Given the description of an element on the screen output the (x, y) to click on. 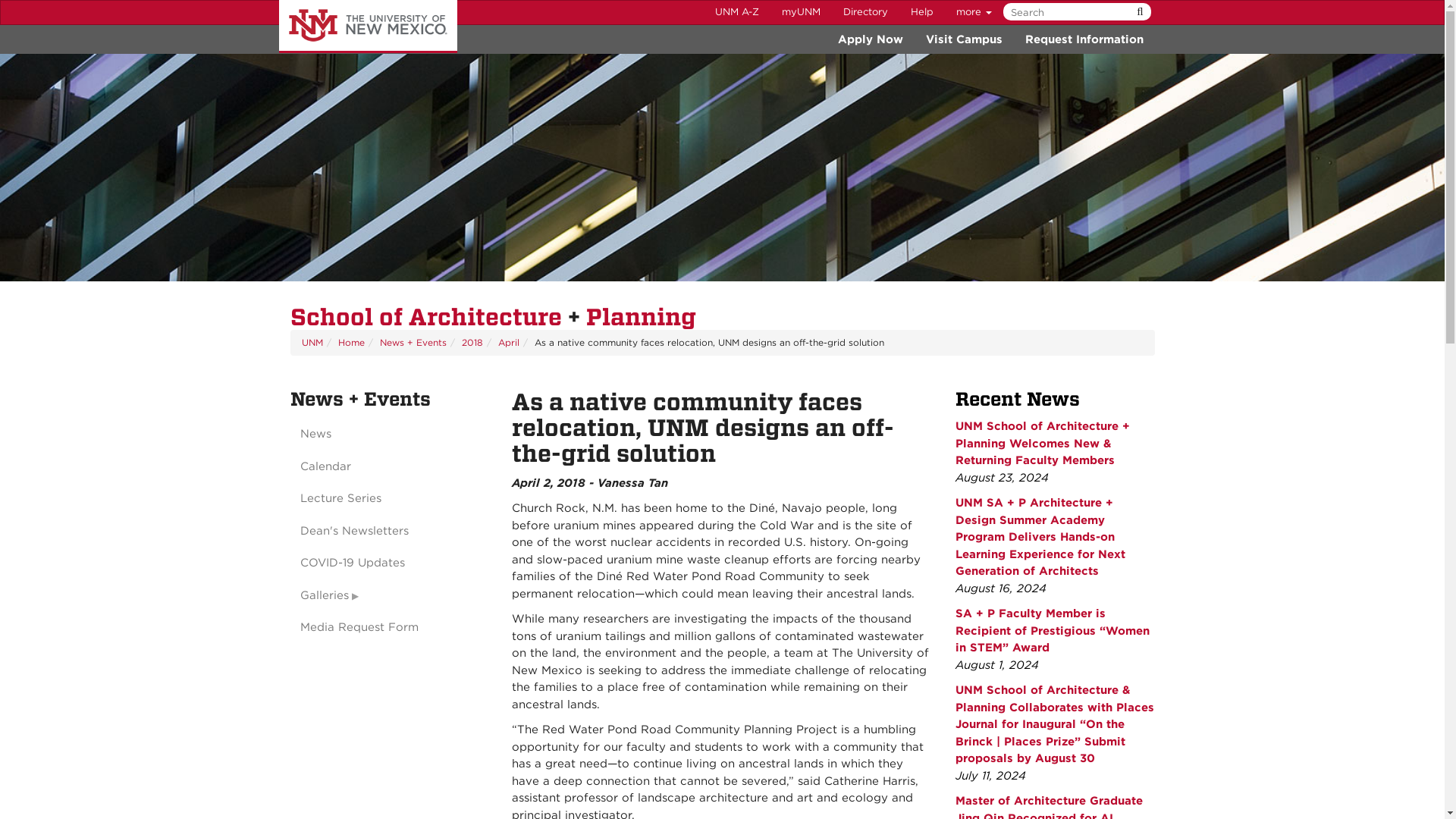
Help (921, 11)
April (507, 342)
News (389, 433)
Galleries (389, 595)
COVID-19 Updates Submenu (389, 563)
Lecture Series (389, 498)
Media Request Form (389, 626)
Directory (865, 11)
Home (351, 342)
Dean's Newsletters (389, 531)
